Given the description of an element on the screen output the (x, y) to click on. 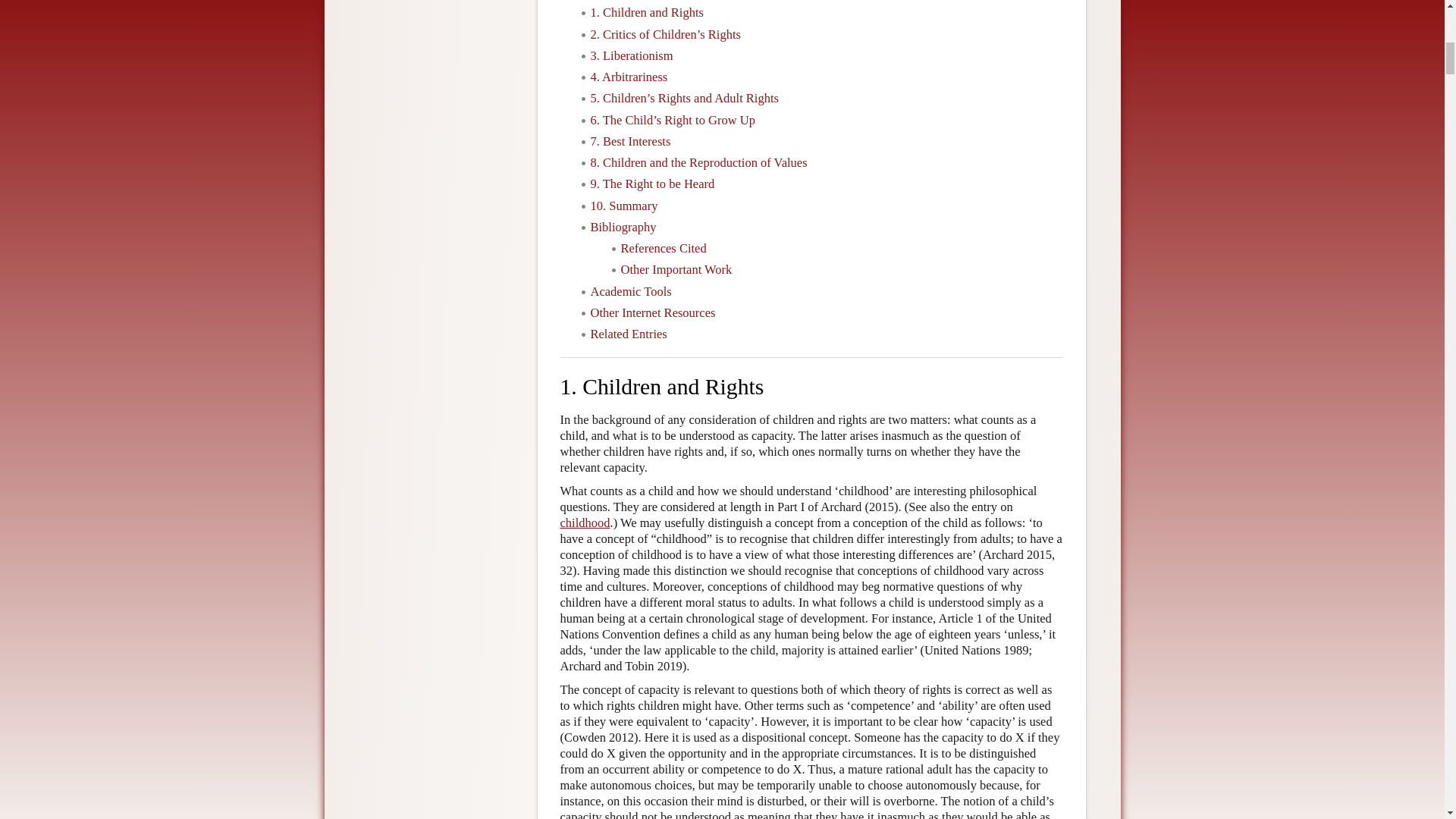
3. Liberationism (630, 55)
9. The Right to be Heard (651, 183)
4. Arbitrariness (627, 76)
1. Children and Rights (646, 11)
7. Best Interests (629, 141)
8. Children and the Reproduction of Values (697, 162)
